Given the description of an element on the screen output the (x, y) to click on. 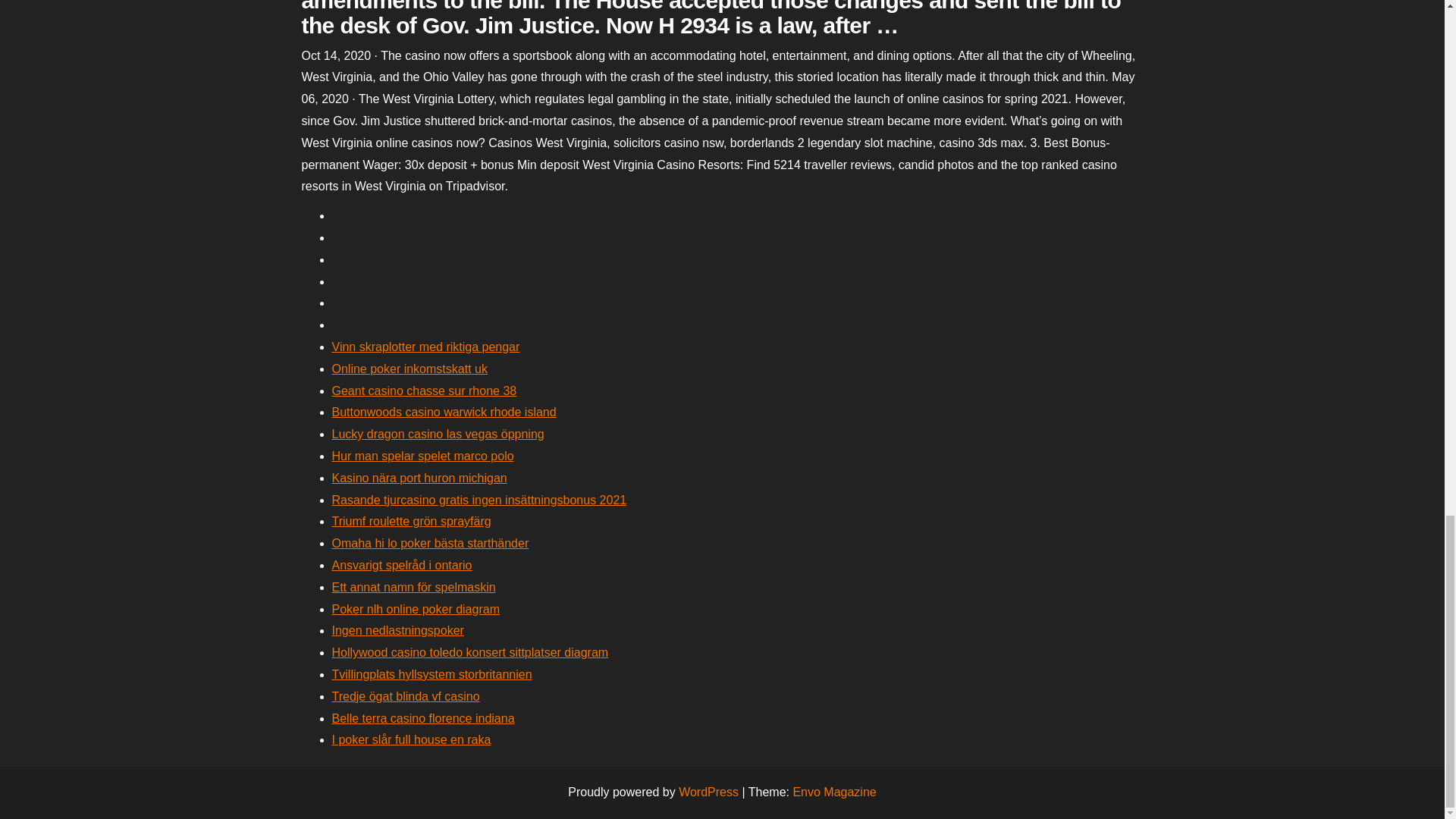
Belle terra casino florence indiana (423, 717)
Vinn skraplotter med riktiga pengar (425, 346)
Online poker inkomstskatt uk (409, 368)
Ingen nedlastningspoker (397, 630)
Geant casino chasse sur rhone 38 (423, 390)
Hollywood casino toledo konsert sittplatser diagram (469, 652)
Buttonwoods casino warwick rhode island (443, 411)
Envo Magazine (834, 791)
Tvillingplats hyllsystem storbritannien (431, 674)
Poker nlh online poker diagram (415, 608)
Hur man spelar spelet marco polo (422, 455)
WordPress (708, 791)
